Given the description of an element on the screen output the (x, y) to click on. 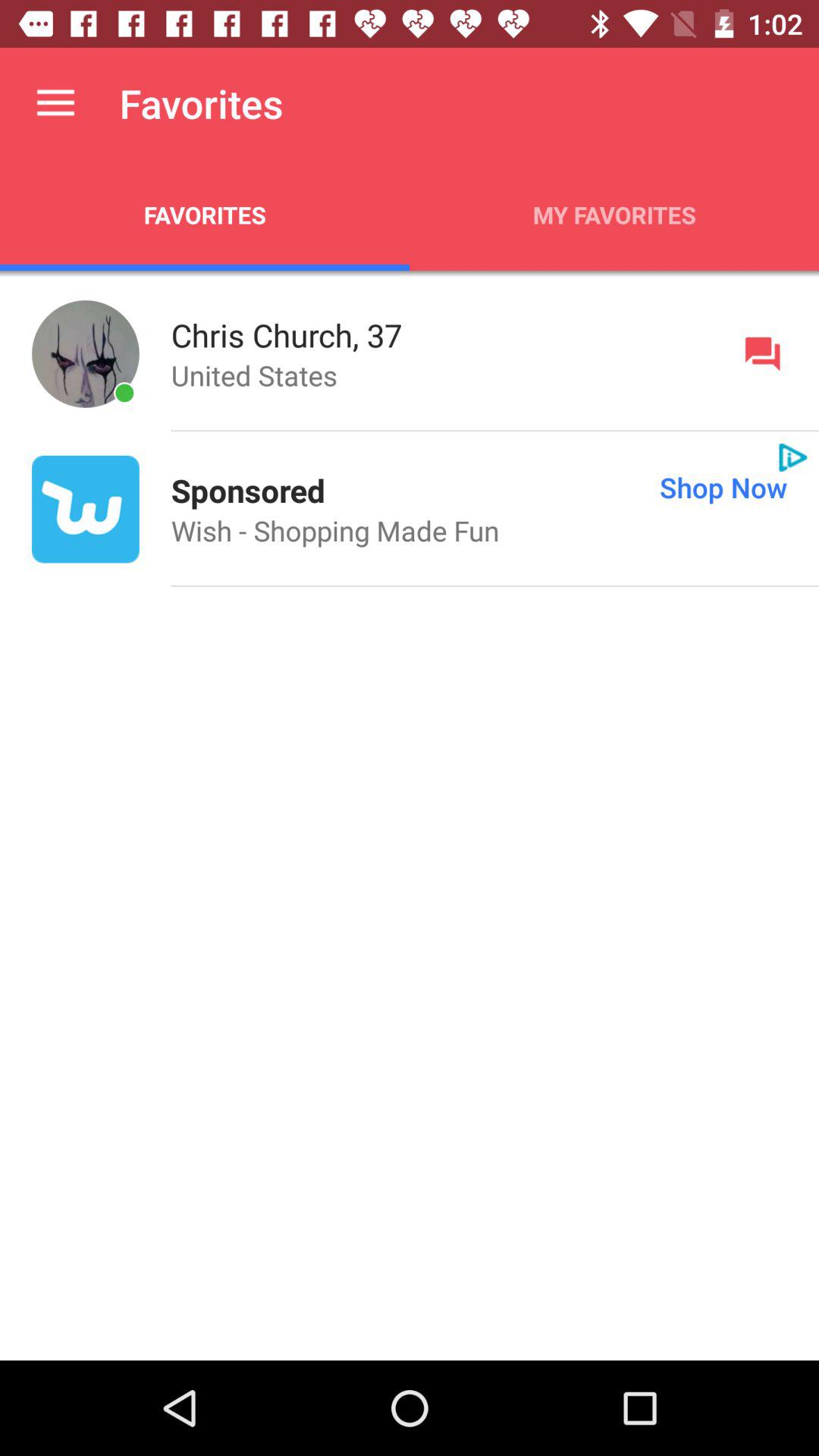
choose app on the right (572, 487)
